Given the description of an element on the screen output the (x, y) to click on. 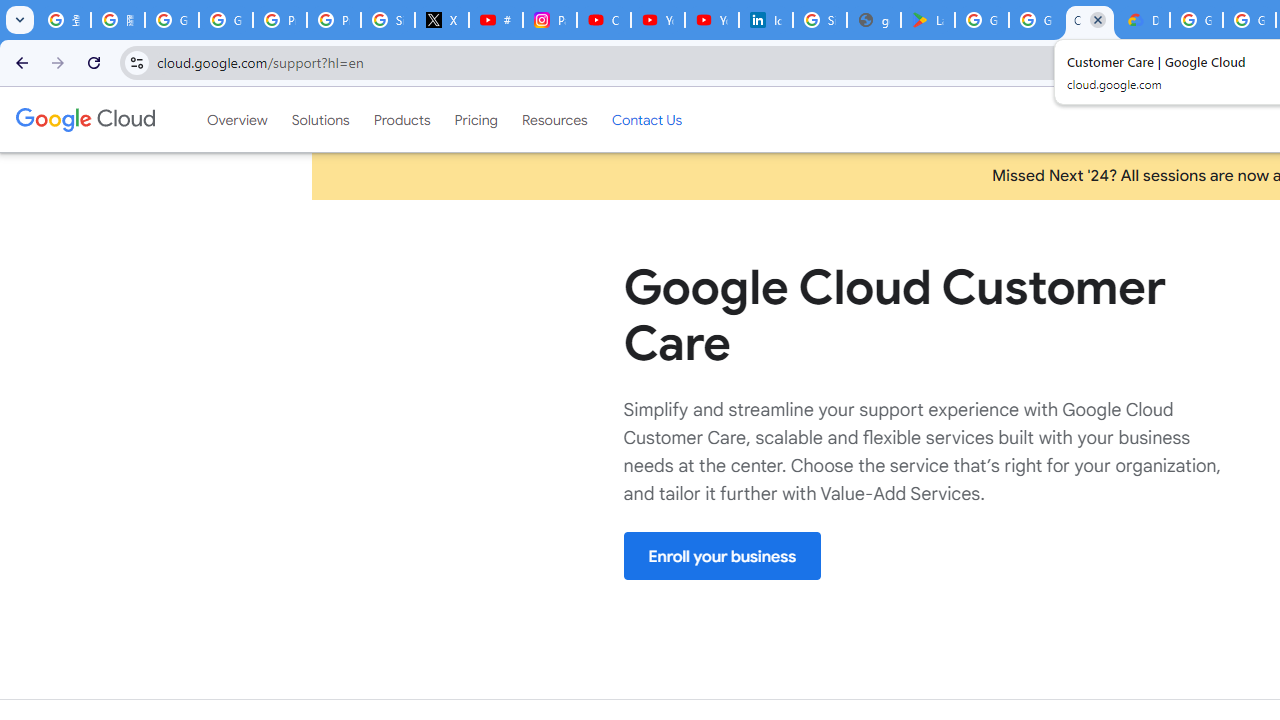
Customer Care | Google Cloud (1089, 20)
Enroll your business (722, 556)
Sign in - Google Accounts (387, 20)
google_privacy_policy_en.pdf (874, 20)
Google Workspace - Specific Terms (1035, 20)
Sign in - Google Accounts (819, 20)
Google Cloud Platform (1195, 20)
Contact Us (646, 119)
Products (401, 119)
Solutions (320, 119)
